Given the description of an element on the screen output the (x, y) to click on. 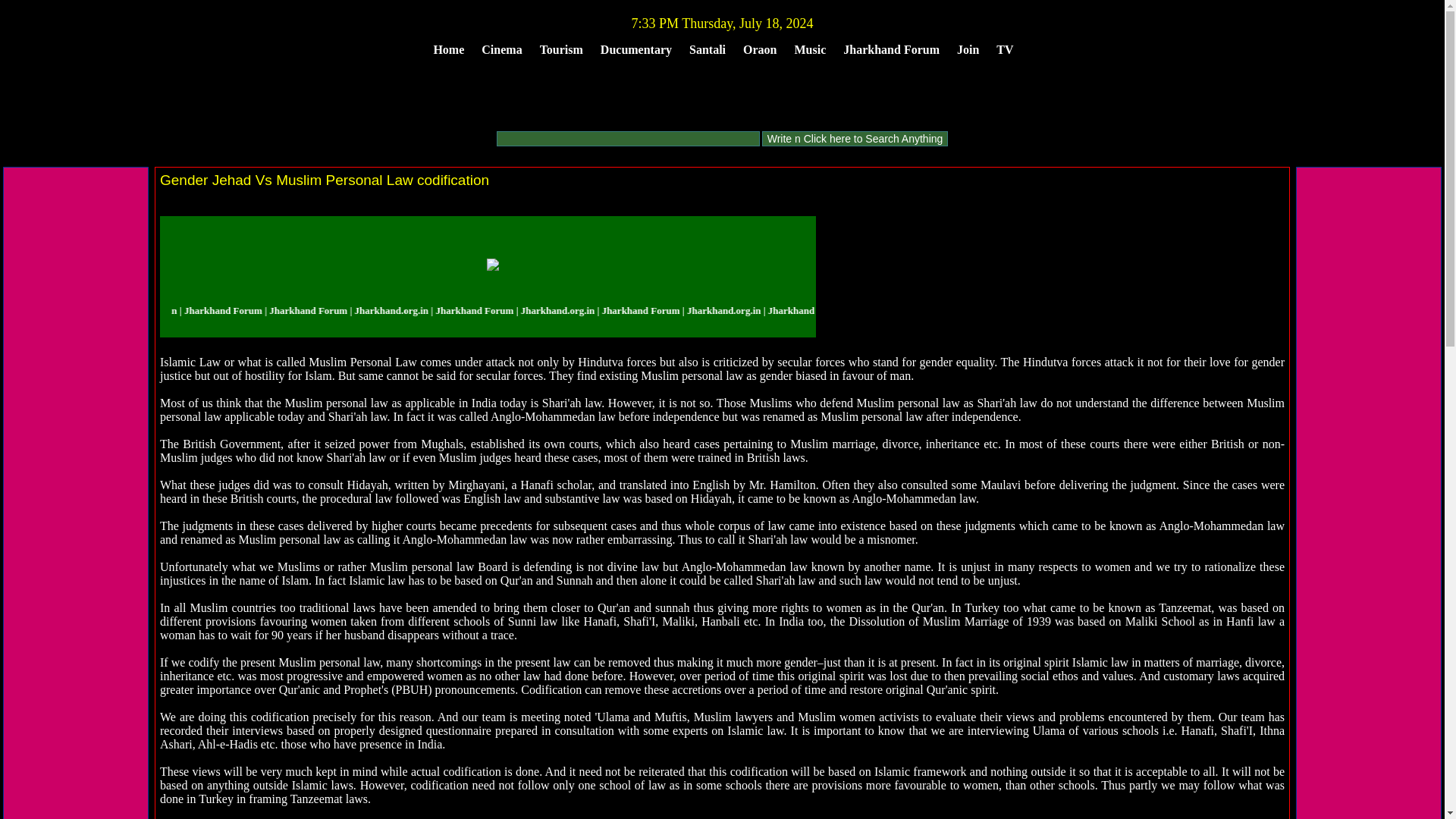
Write n Click here to Search Anything (855, 138)
Cinema (501, 49)
Join (967, 49)
Home (448, 49)
Ducumentary (636, 49)
Oraon (759, 49)
Write n Click here to Search Anything (855, 138)
Tourism (561, 49)
Jharkhand Forum (890, 49)
TV (1004, 49)
Santali (707, 49)
Music (810, 49)
